Given the description of an element on the screen output the (x, y) to click on. 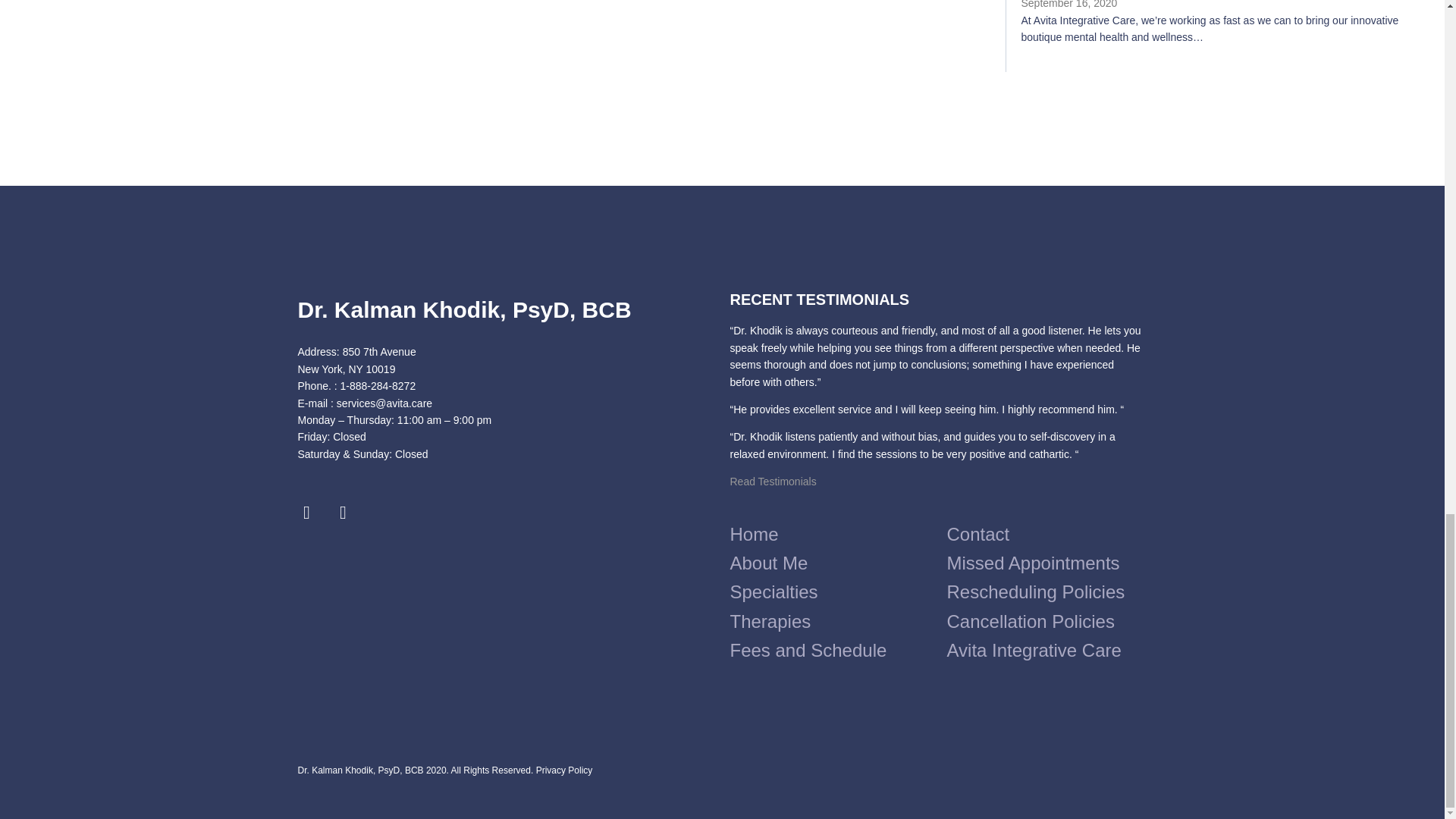
Cancellation Policies (1041, 621)
Contact (1041, 534)
Specialties (837, 592)
September 16, 2020 (1068, 4)
Avita Integrative Care (1041, 650)
Home (837, 534)
About Me (837, 563)
Fees and Schedule (837, 650)
Missed Appointments (1041, 563)
Rescheduling Policies (1041, 592)
Dr. Kalman Khodik, PsyD, BCB (463, 309)
Therapies (837, 621)
Read Testimonials (772, 481)
